Given the description of an element on the screen output the (x, y) to click on. 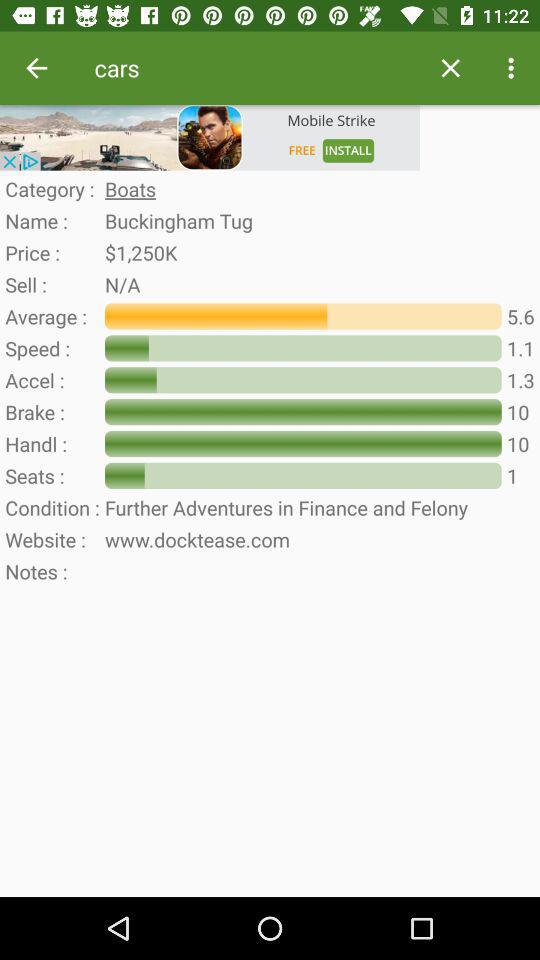
go to advertisement (210, 137)
